Given the description of an element on the screen output the (x, y) to click on. 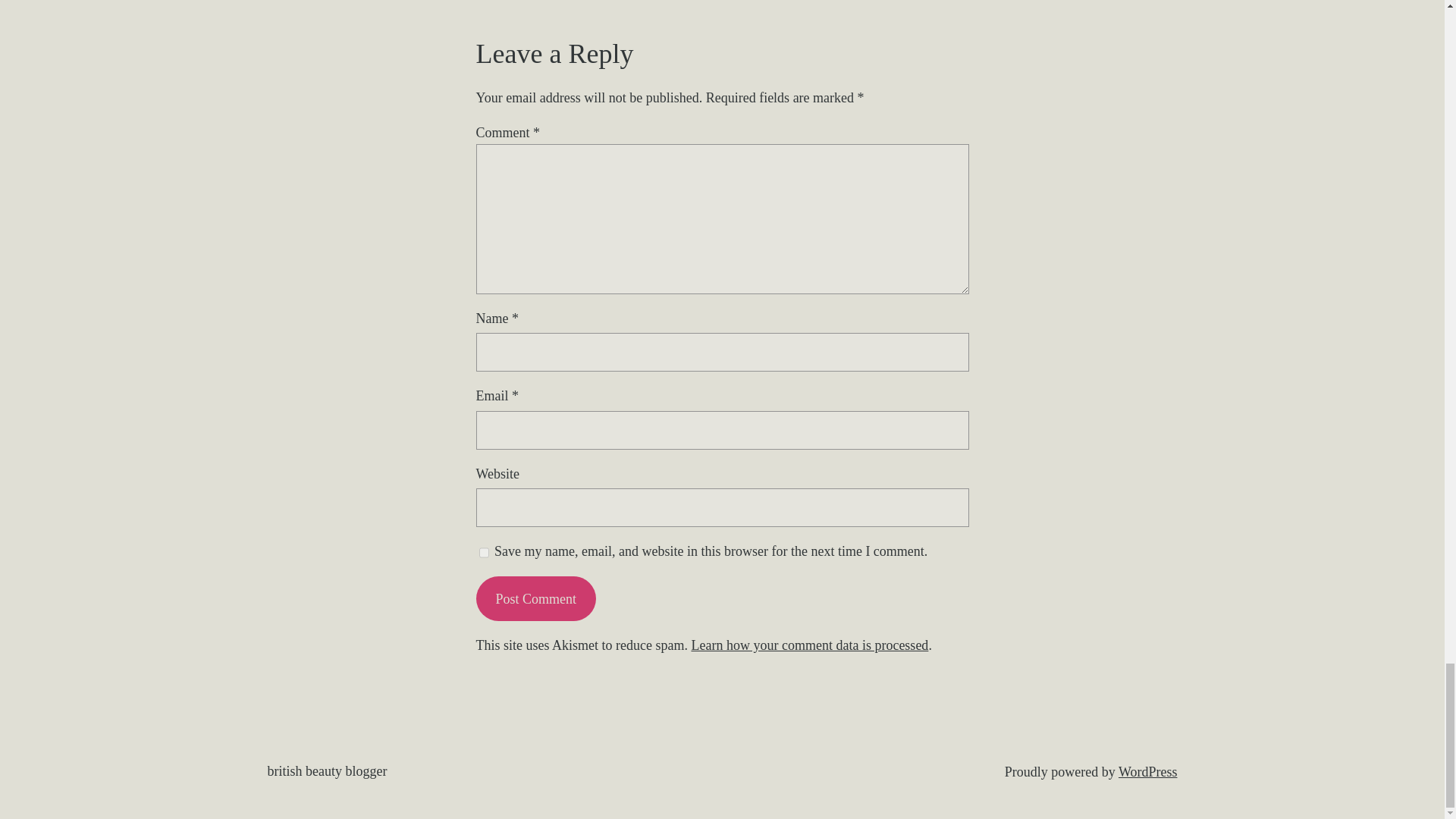
Post Comment (535, 598)
Learn how your comment data is processed (809, 645)
Post Comment (535, 598)
british beauty blogger (326, 770)
WordPress (1147, 771)
